Given the description of an element on the screen output the (x, y) to click on. 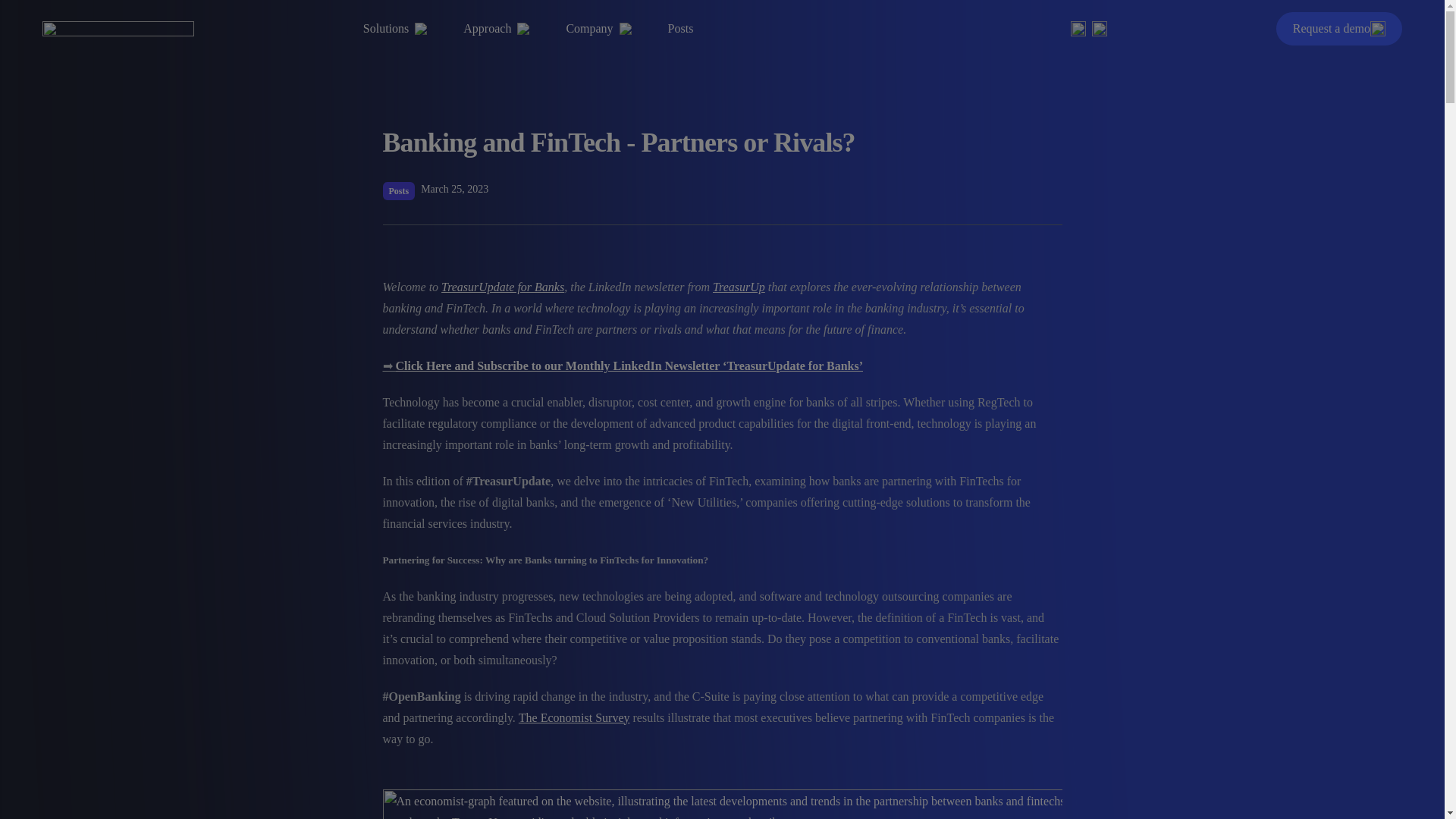
Company (598, 29)
Posts (681, 29)
Approach (496, 29)
Solutions (394, 29)
Request a demo (1331, 28)
